Given the description of an element on the screen output the (x, y) to click on. 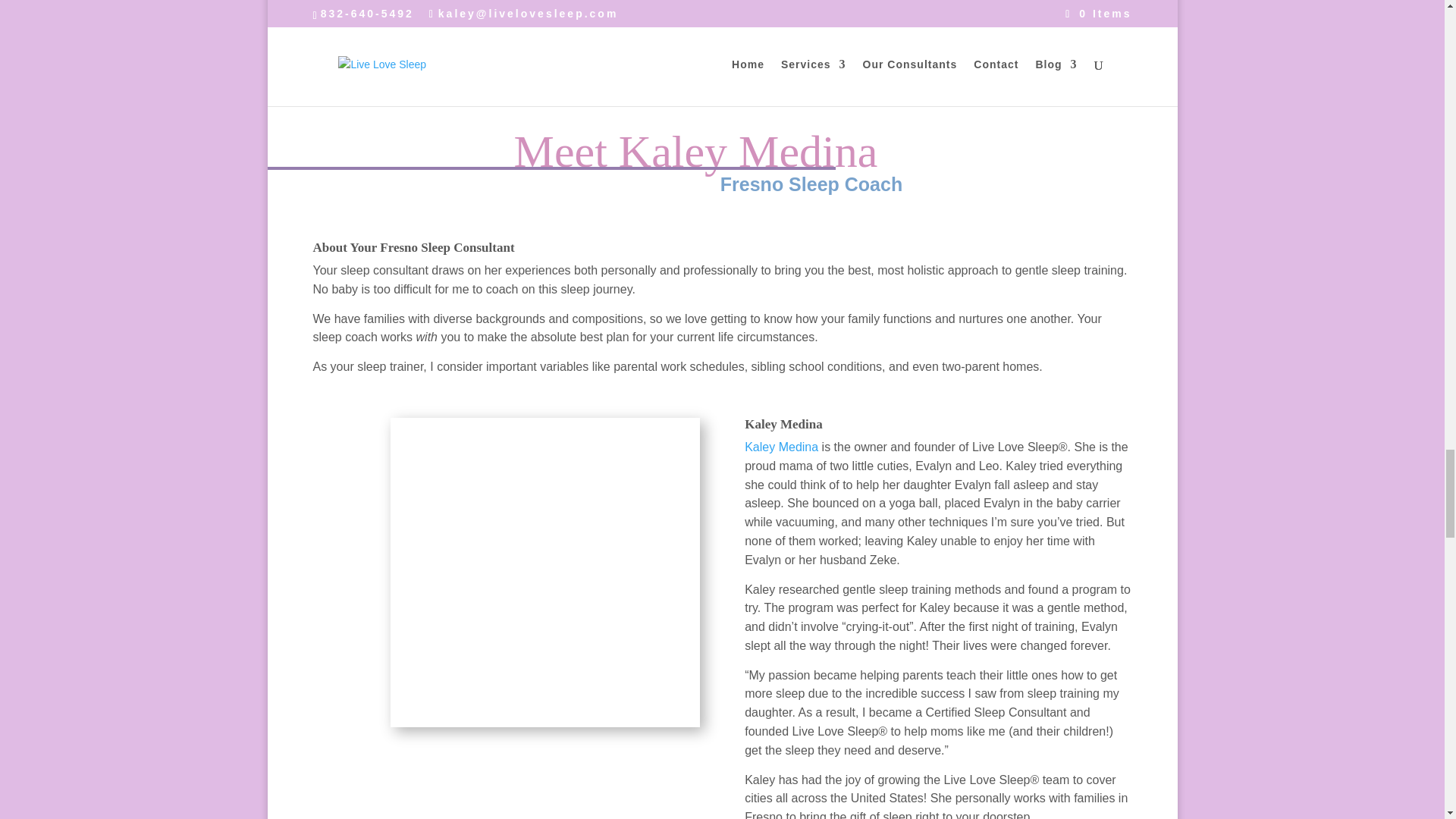
Click Here (721, 13)
Kaley Medina (781, 446)
Kaley Medina (545, 572)
